Given the description of an element on the screen output the (x, y) to click on. 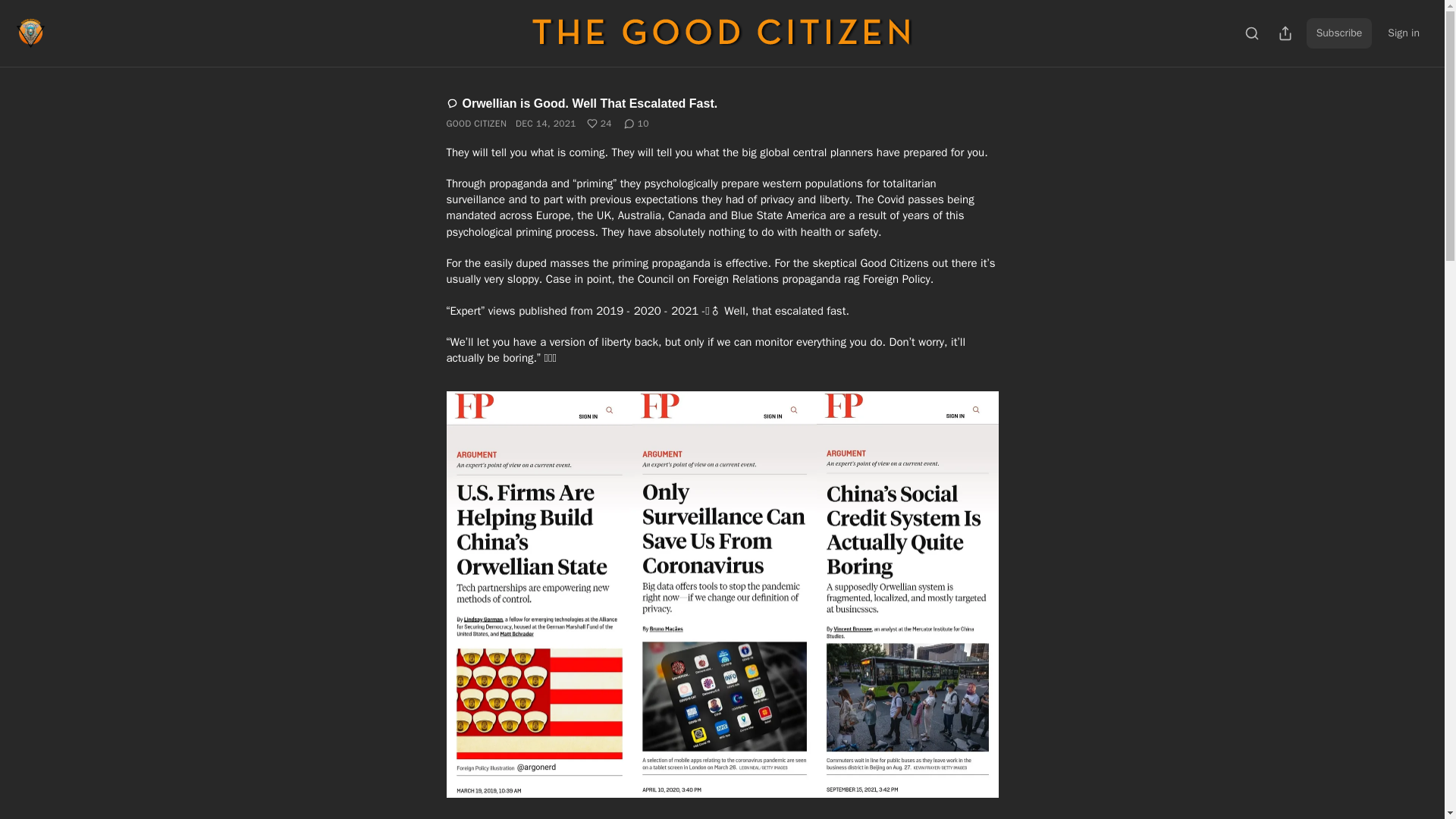
2021-12-13T18:21:42.574Z (545, 123)
10 (636, 123)
GOOD CITIZEN (475, 123)
Orwellian is Good. Well That Escalated Fast. (581, 103)
24 (598, 123)
Sign in (1403, 33)
Subscribe (1339, 33)
